Given the description of an element on the screen output the (x, y) to click on. 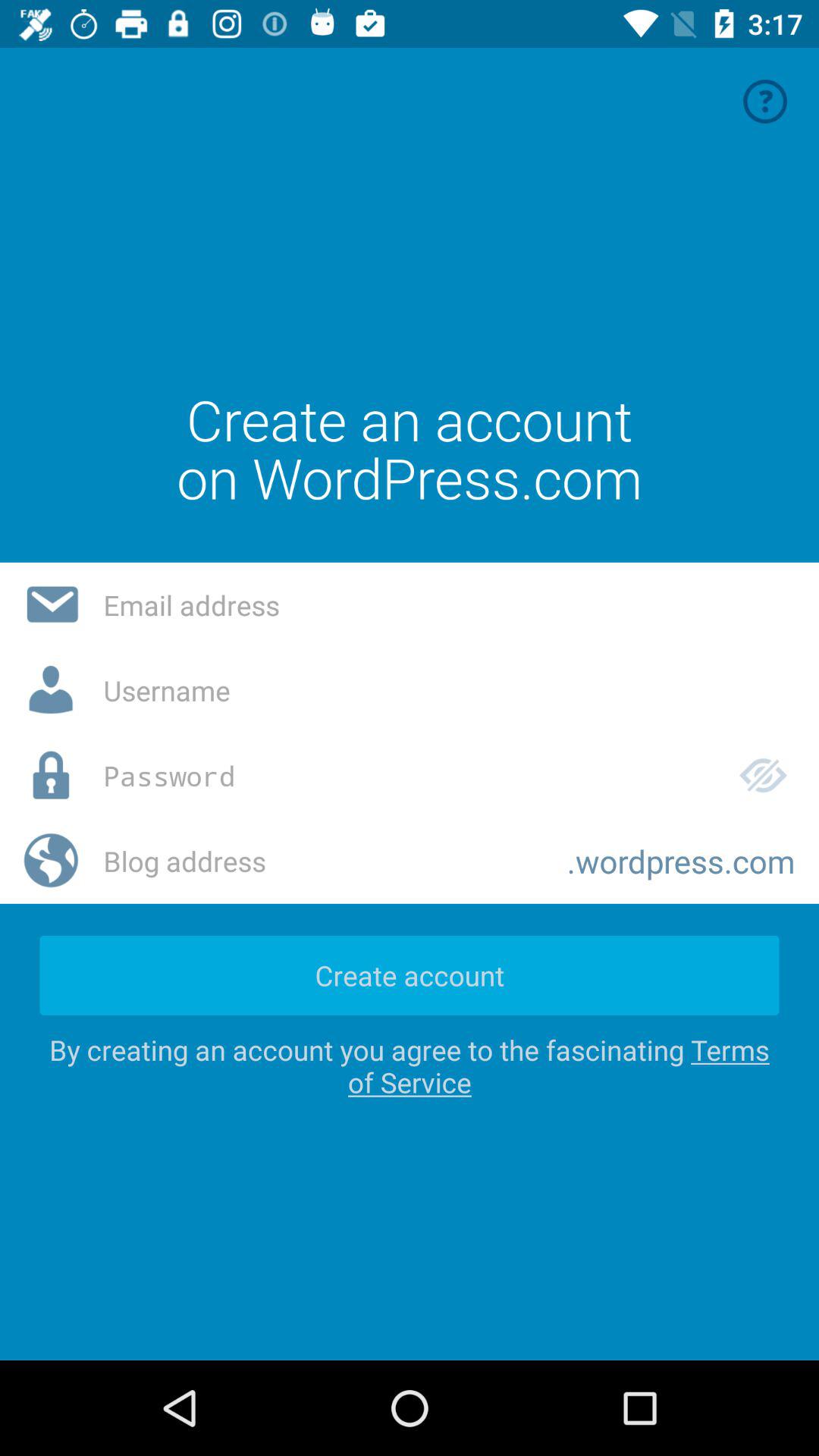
enter the username (449, 690)
